Given the description of an element on the screen output the (x, y) to click on. 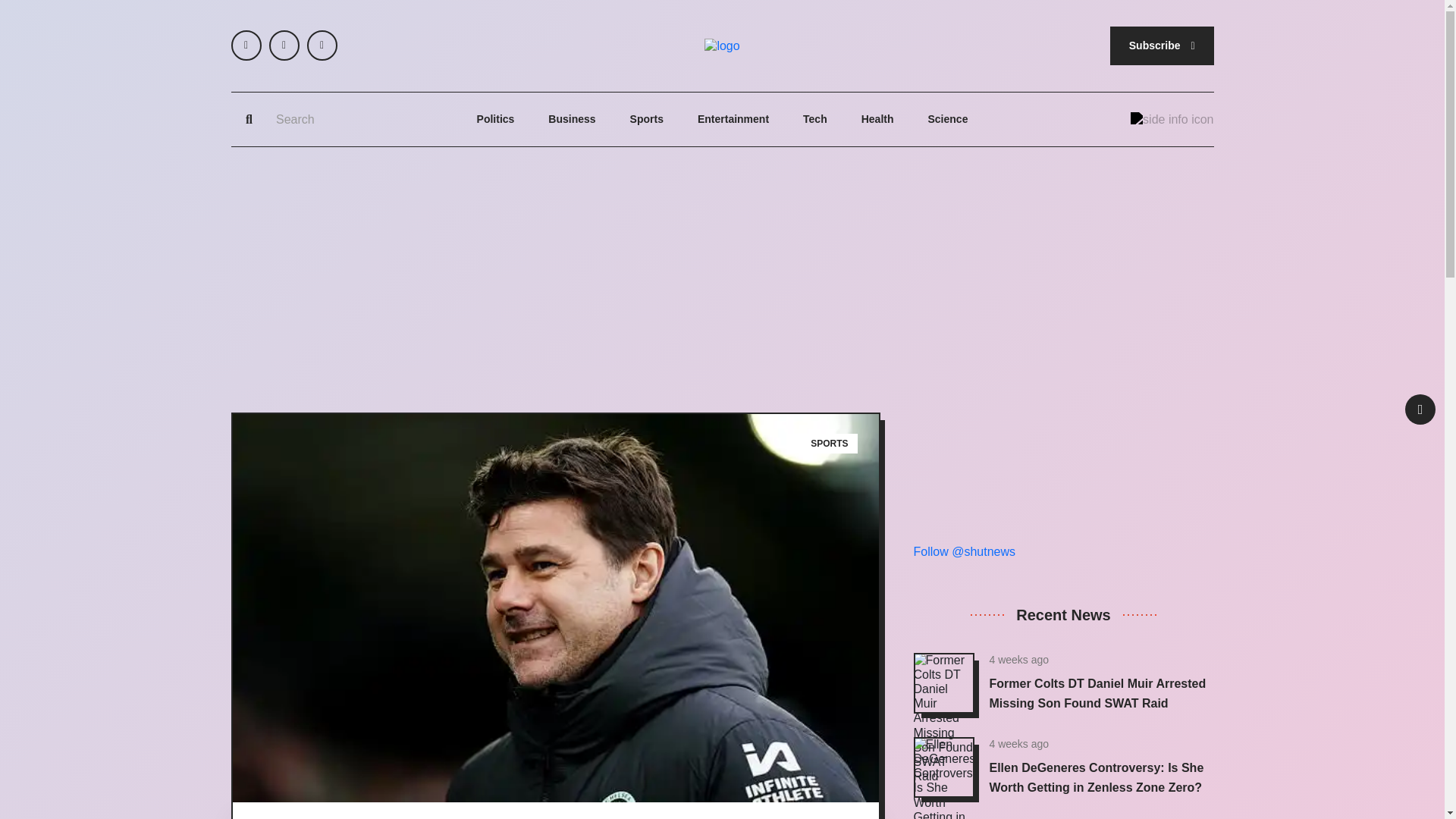
Entertainment (732, 119)
Subscribe (1161, 45)
SPORTS (829, 443)
